Given the description of an element on the screen output the (x, y) to click on. 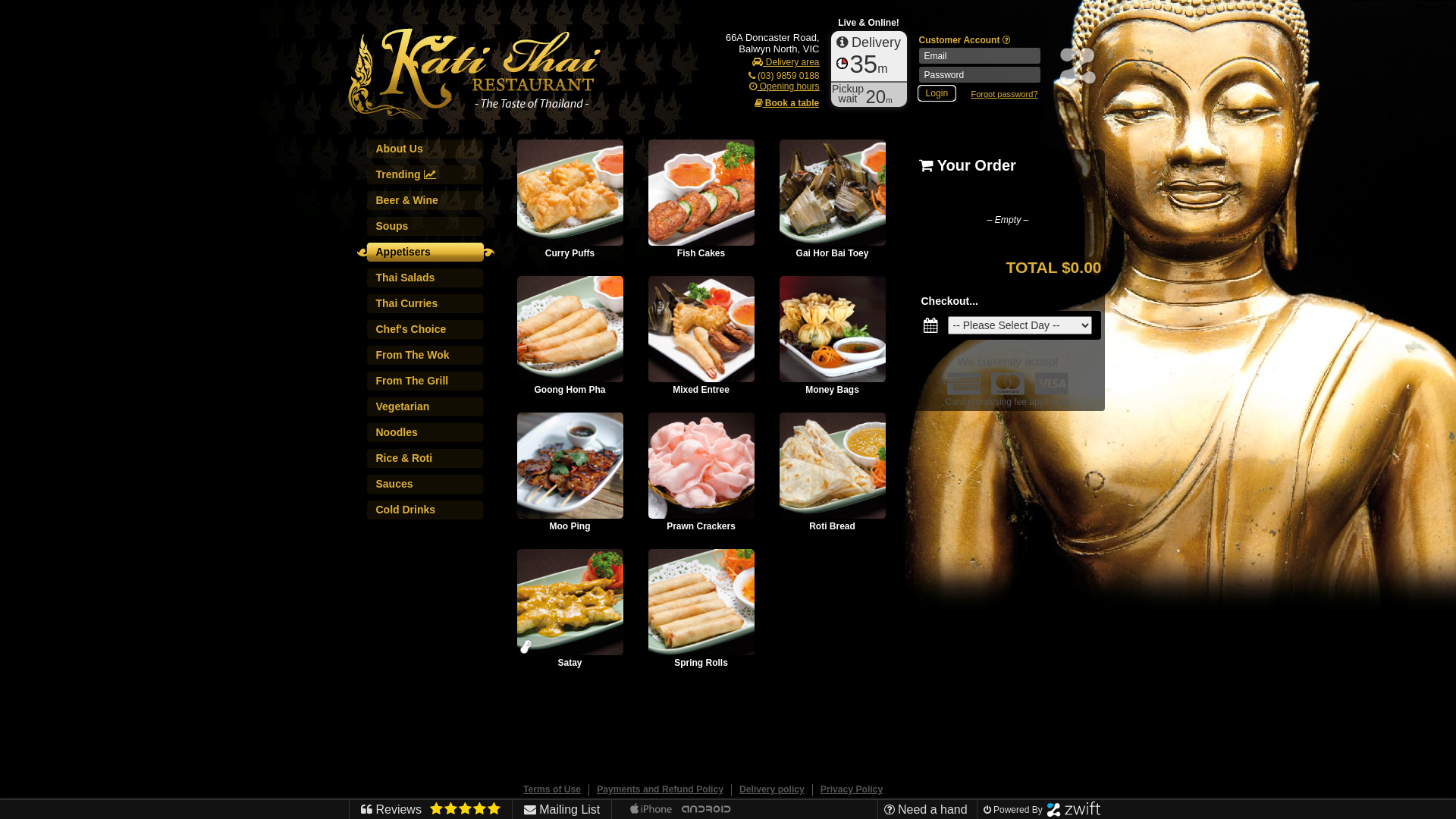
Noodles Element type: text (427, 435)
Rice & Roti Element type: text (427, 461)
American Express Element type: hover (963, 383)
Delivery policy Element type: text (771, 789)
Sauces Element type: text (427, 487)
About Us Element type: text (435, 152)
Opening hours Element type: text (784, 86)
Terms of Use Element type: text (551, 789)
Delivery area Element type: text (785, 61)
Mastercard Element type: hover (1007, 383)
Privacy Policy Element type: text (851, 789)
Beer & Wine Element type: text (427, 203)
Login Element type: text (937, 93)
Book a table Element type: text (793, 102)
Powered By Element type: text (1040, 809)
Vegetarian Element type: text (427, 410)
Payments and Refund Policy Element type: text (659, 789)
Visa Element type: hover (1051, 383)
From The Wok Element type: text (427, 358)
Trending Element type: text (427, 178)
Appetisers Element type: text (427, 255)
From The Grill Element type: text (427, 384)
Thai Salads Element type: text (427, 281)
Thai Curries Element type: text (427, 307)
Soups Element type: text (427, 229)
Chef's Choice Element type: text (427, 332)
Cold Drinks Element type: text (427, 513)
